Given the description of an element on the screen output the (x, y) to click on. 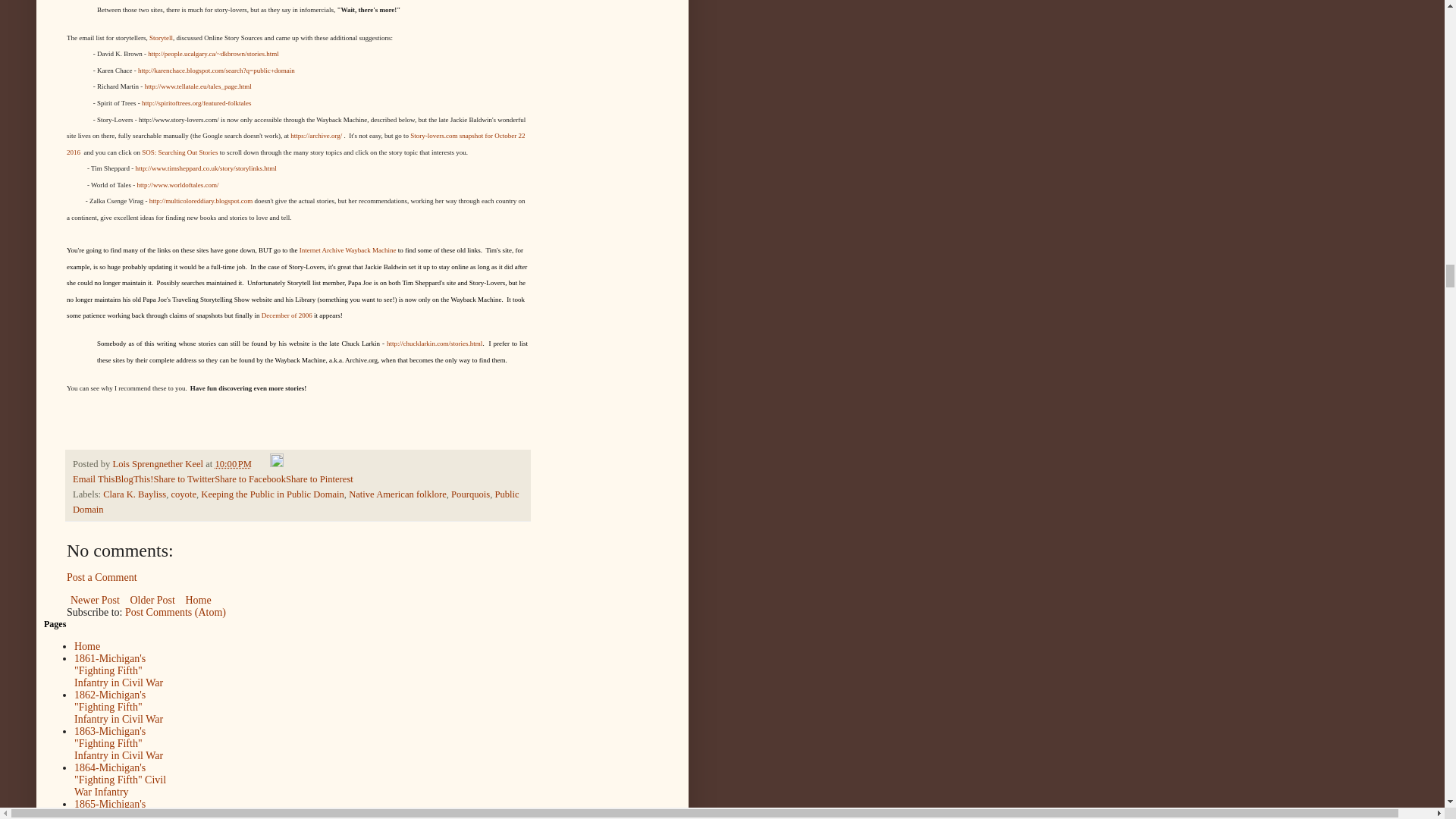
Edit Post (276, 463)
Newer Post (94, 599)
Email Post (261, 463)
Storytell (161, 37)
Share to Twitter (183, 479)
Share to Pinterest (319, 479)
permanent link (233, 463)
BlogThis! (133, 479)
Share to Facebook (249, 479)
Older Post (152, 599)
